Given the description of an element on the screen output the (x, y) to click on. 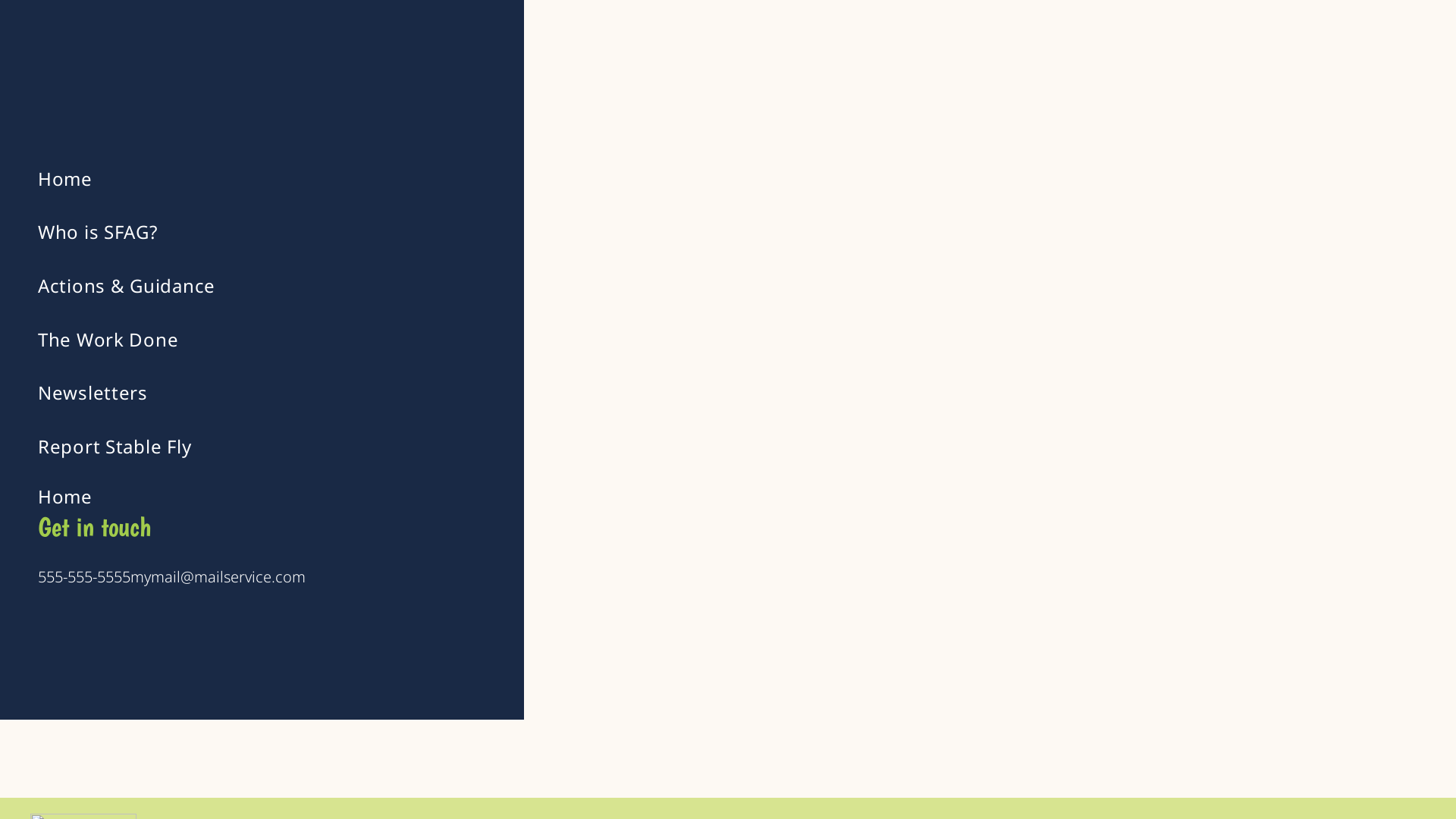
Home Element type: text (64, 495)
Newsletters Element type: text (299, 392)
Report Stable Fly Element type: text (299, 446)
Actions & Guidance Element type: text (299, 285)
The Work Done Element type: text (299, 339)
Who is SFAG? Element type: text (299, 232)
Home Element type: text (299, 178)
